Given the description of an element on the screen output the (x, y) to click on. 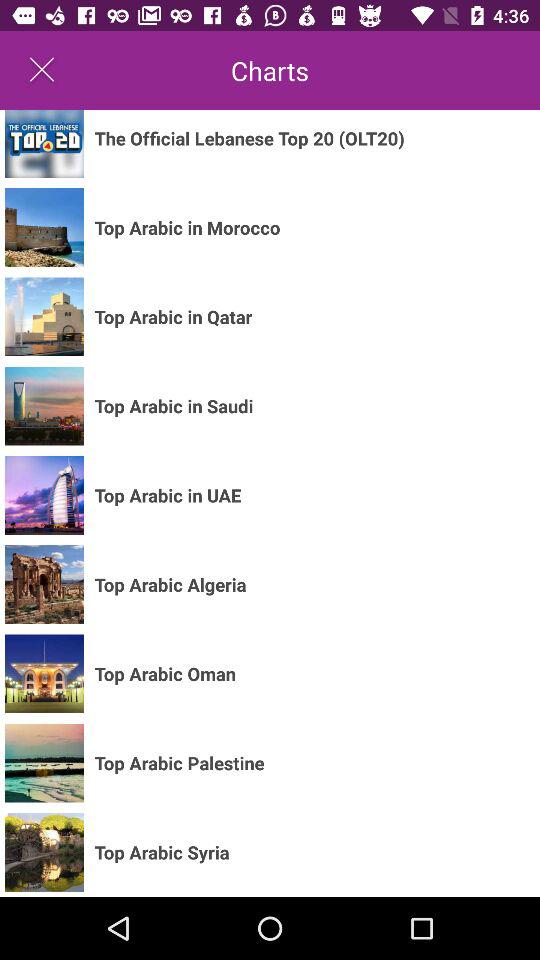
scroll until the the official lebanese icon (249, 137)
